Given the description of an element on the screen output the (x, y) to click on. 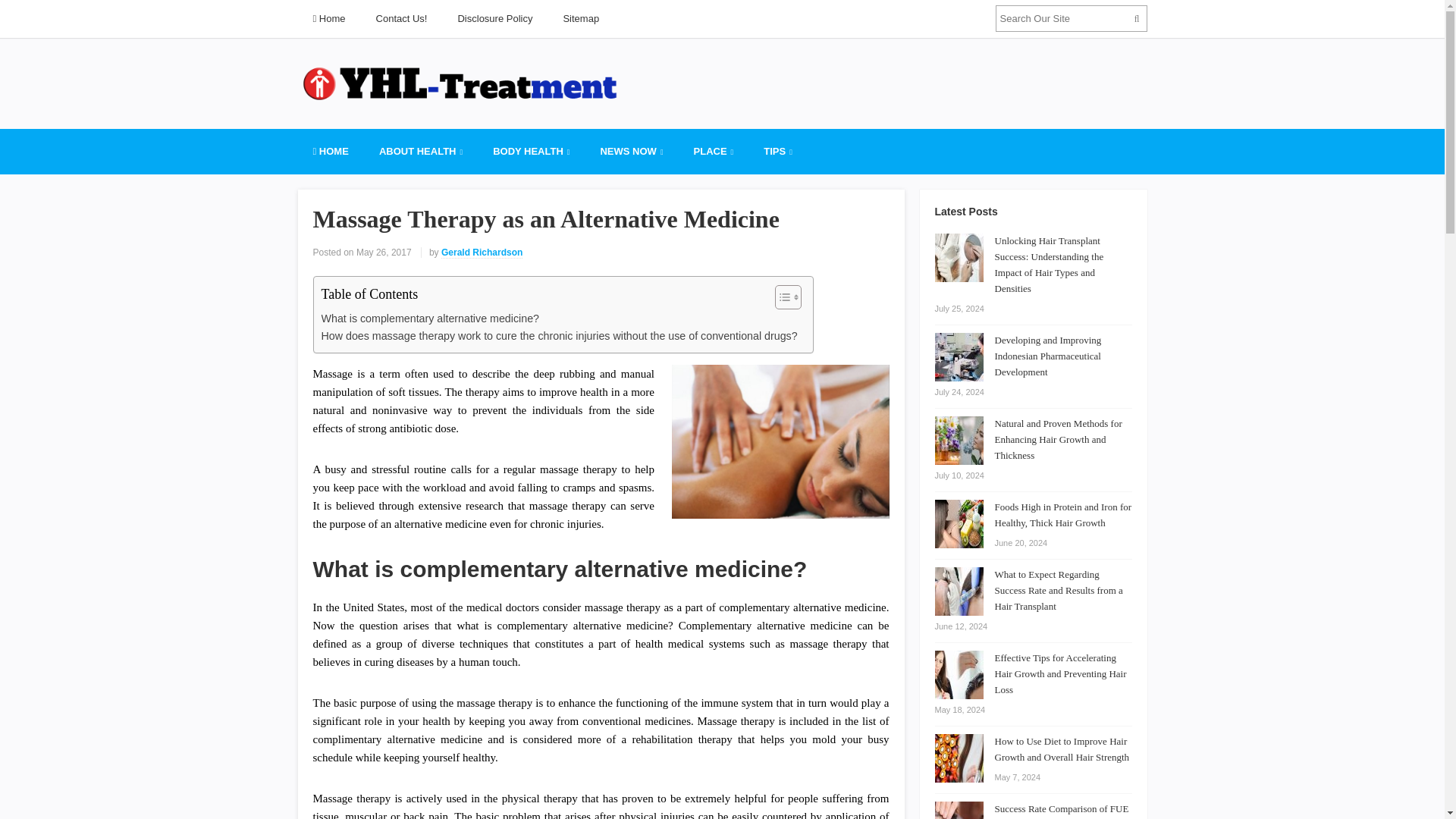
Home (328, 18)
What is complementary alternative medicine? (430, 318)
Contact Us! (401, 18)
Sitemap (580, 18)
Disclosure Policy (494, 18)
